Given the description of an element on the screen output the (x, y) to click on. 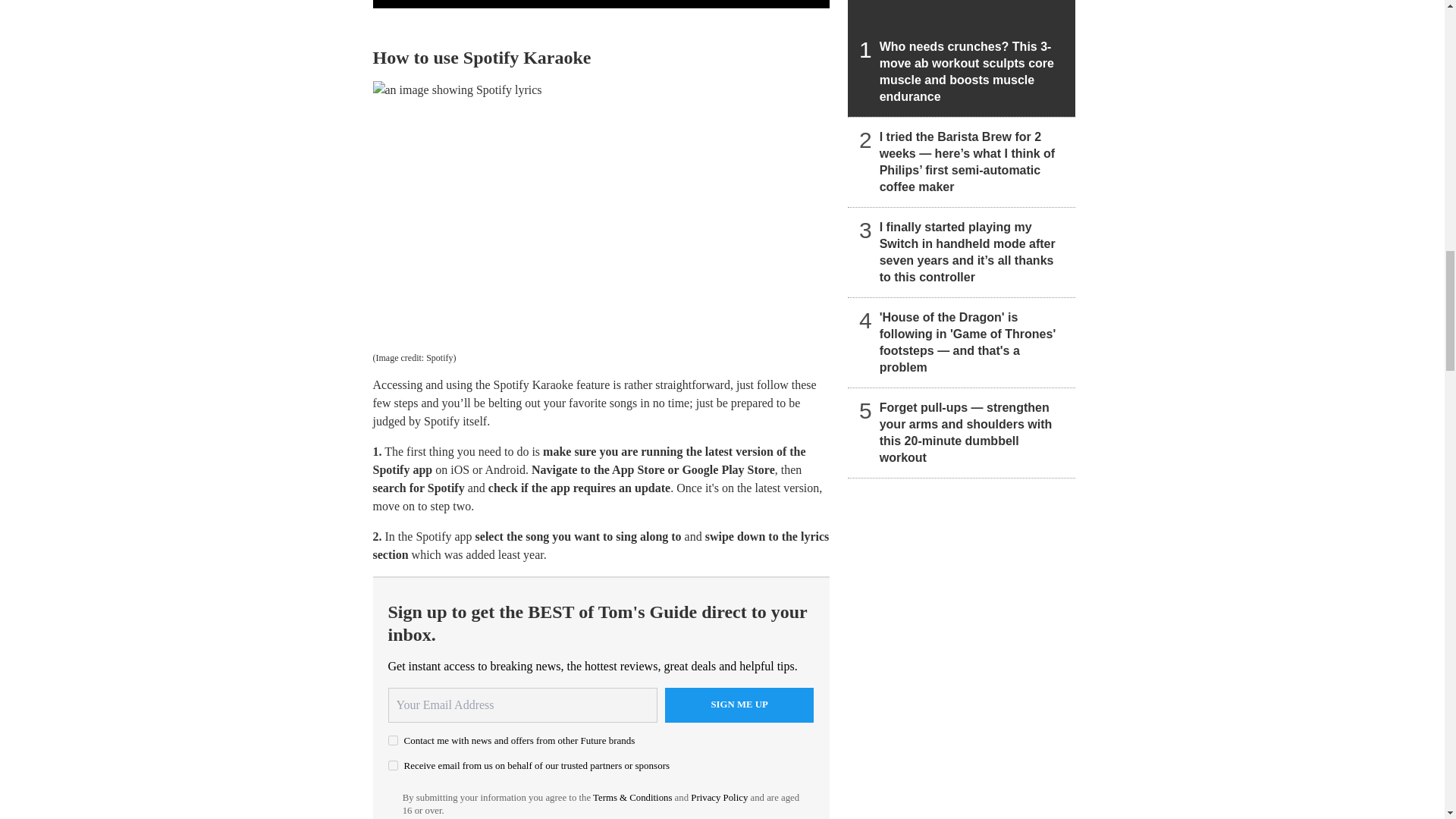
on (392, 765)
on (392, 740)
Sign me up (739, 704)
